Given the description of an element on the screen output the (x, y) to click on. 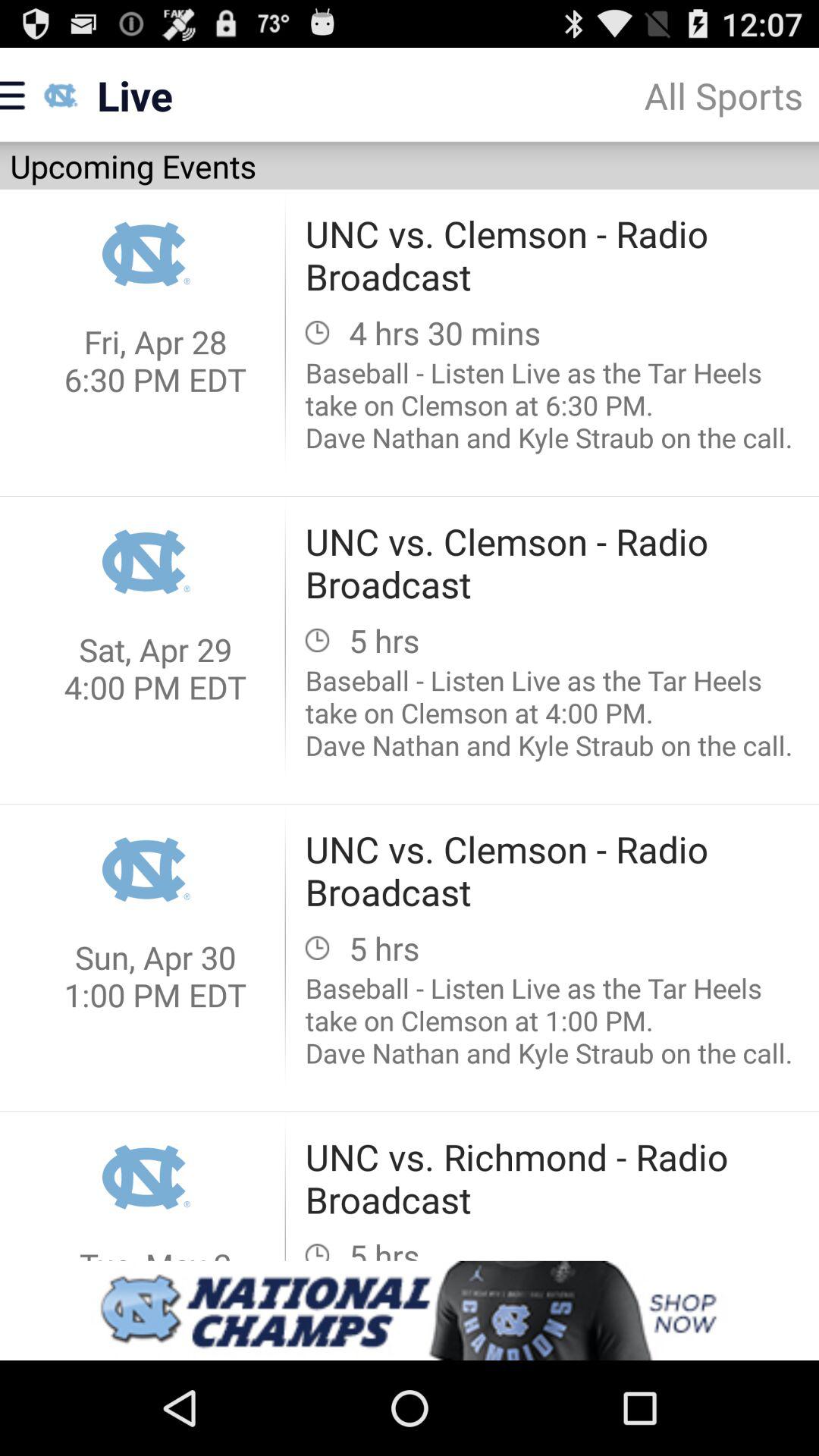
go to site (409, 1310)
